Given the description of an element on the screen output the (x, y) to click on. 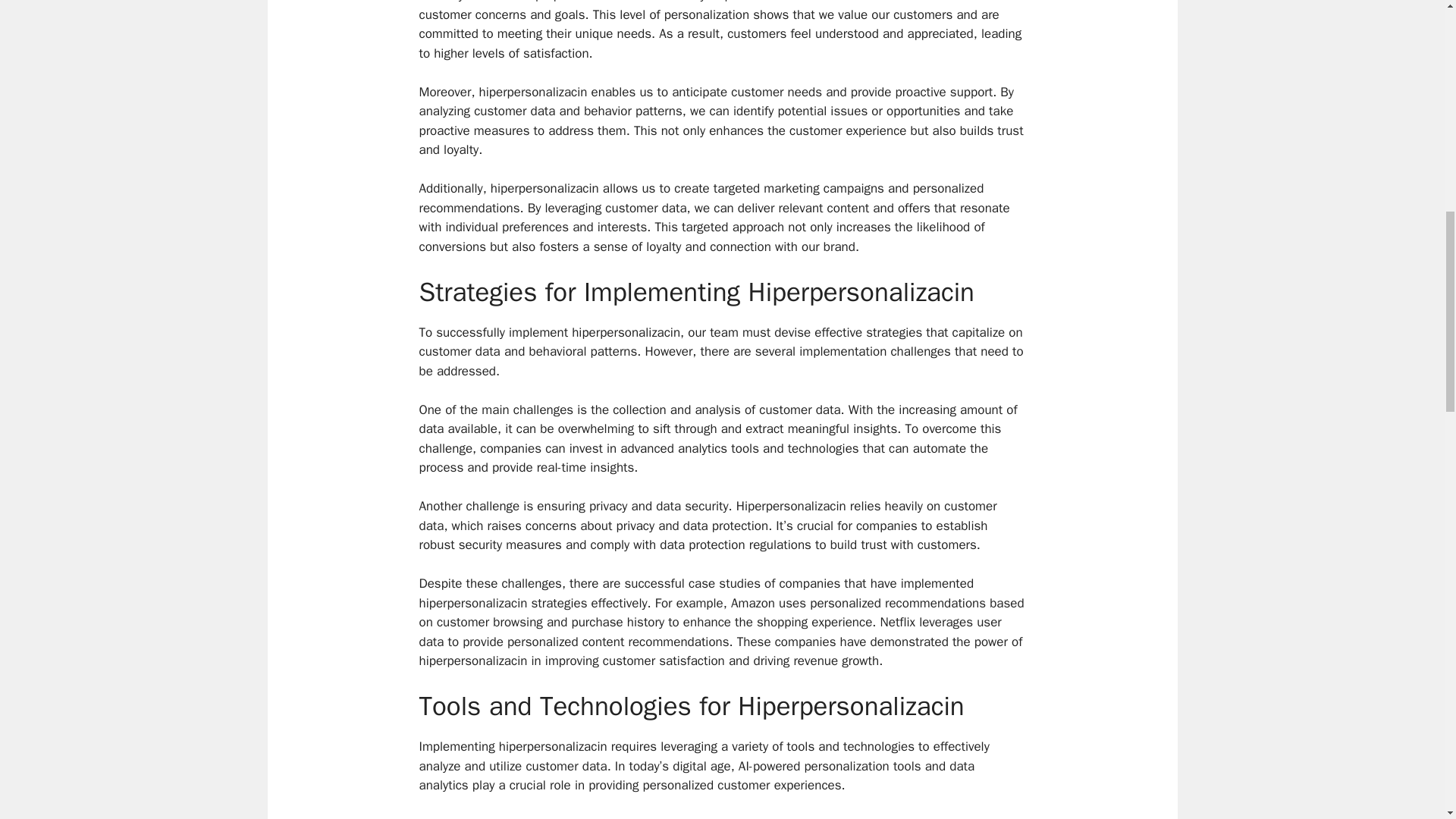
Scroll back to top (1406, 719)
